Given the description of an element on the screen output the (x, y) to click on. 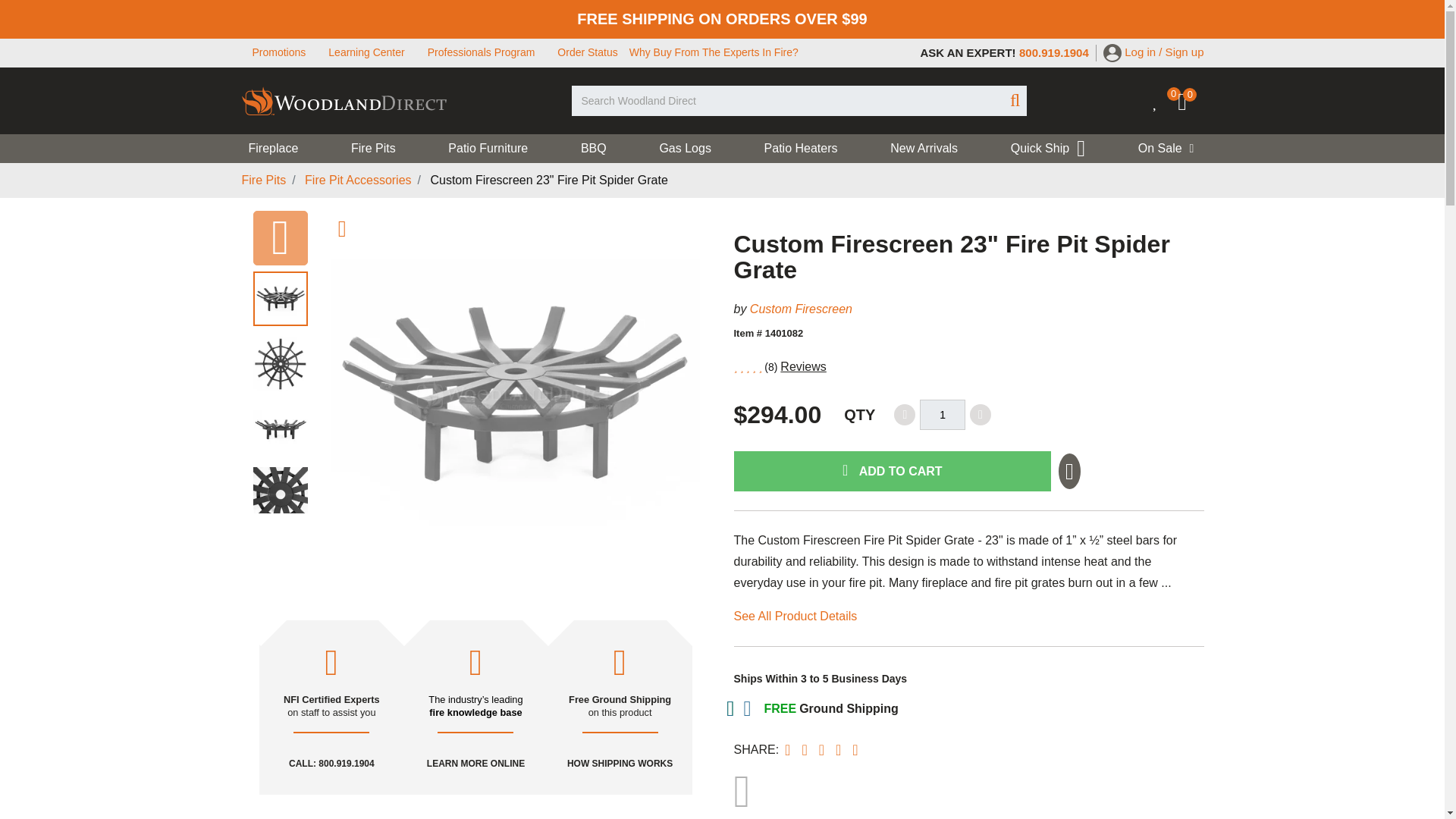
Why Buy From The Experts In Fire? (712, 52)
Promotions (278, 52)
0 (1190, 105)
Cart 0 Items (1190, 105)
Learning Center (366, 52)
Order Status (587, 52)
Click to add to cart (892, 471)
See All Product Details (795, 615)
Professionals Program (481, 52)
Reviews (802, 366)
